Given the description of an element on the screen output the (x, y) to click on. 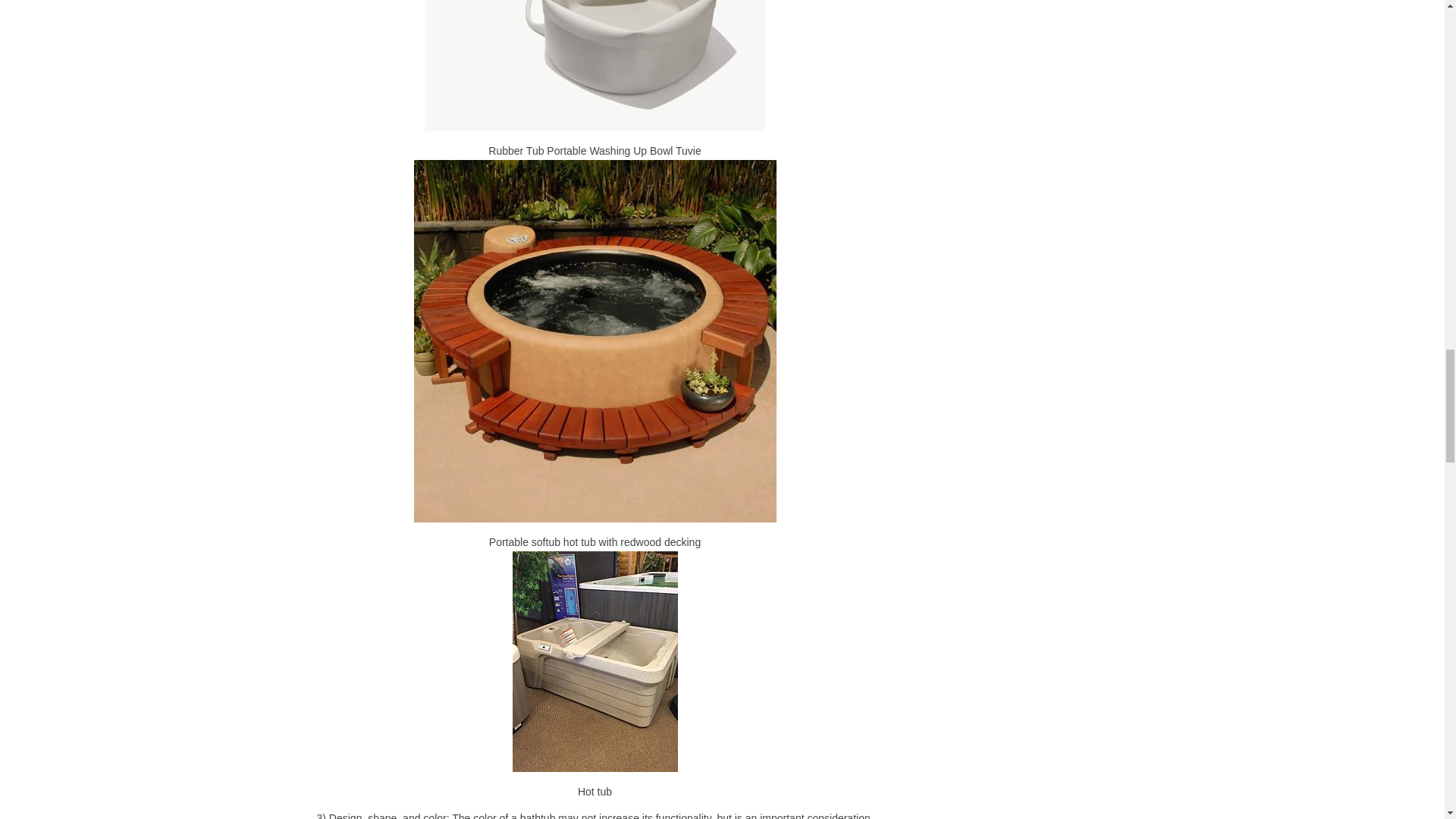
Portable softub hot tub with redwood decking (594, 340)
Rubber Tub Portable Washing Up Bowl Tuvie (595, 65)
